Given the description of an element on the screen output the (x, y) to click on. 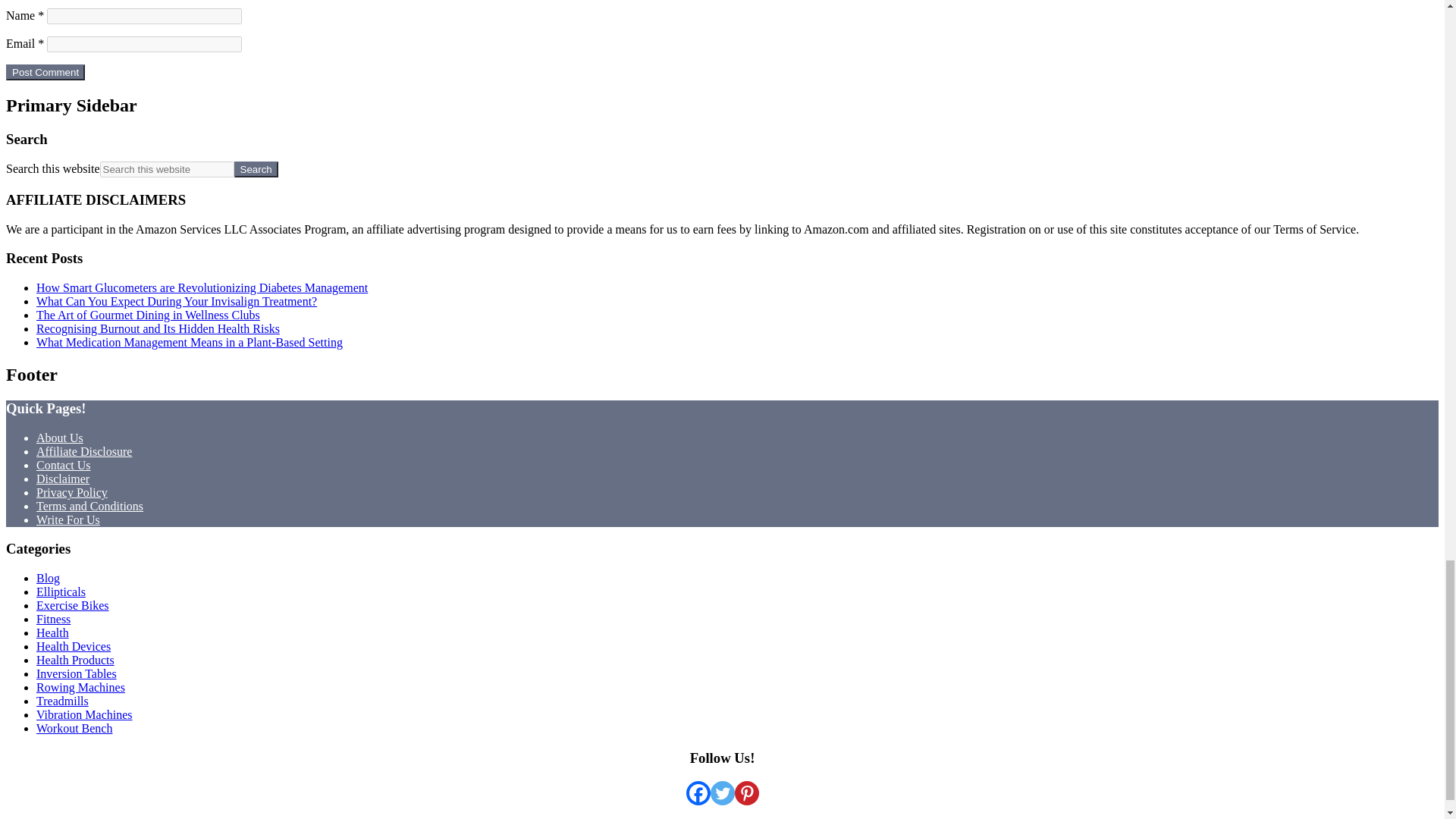
Search (256, 169)
Search (256, 169)
Post Comment (44, 72)
